Given the description of an element on the screen output the (x, y) to click on. 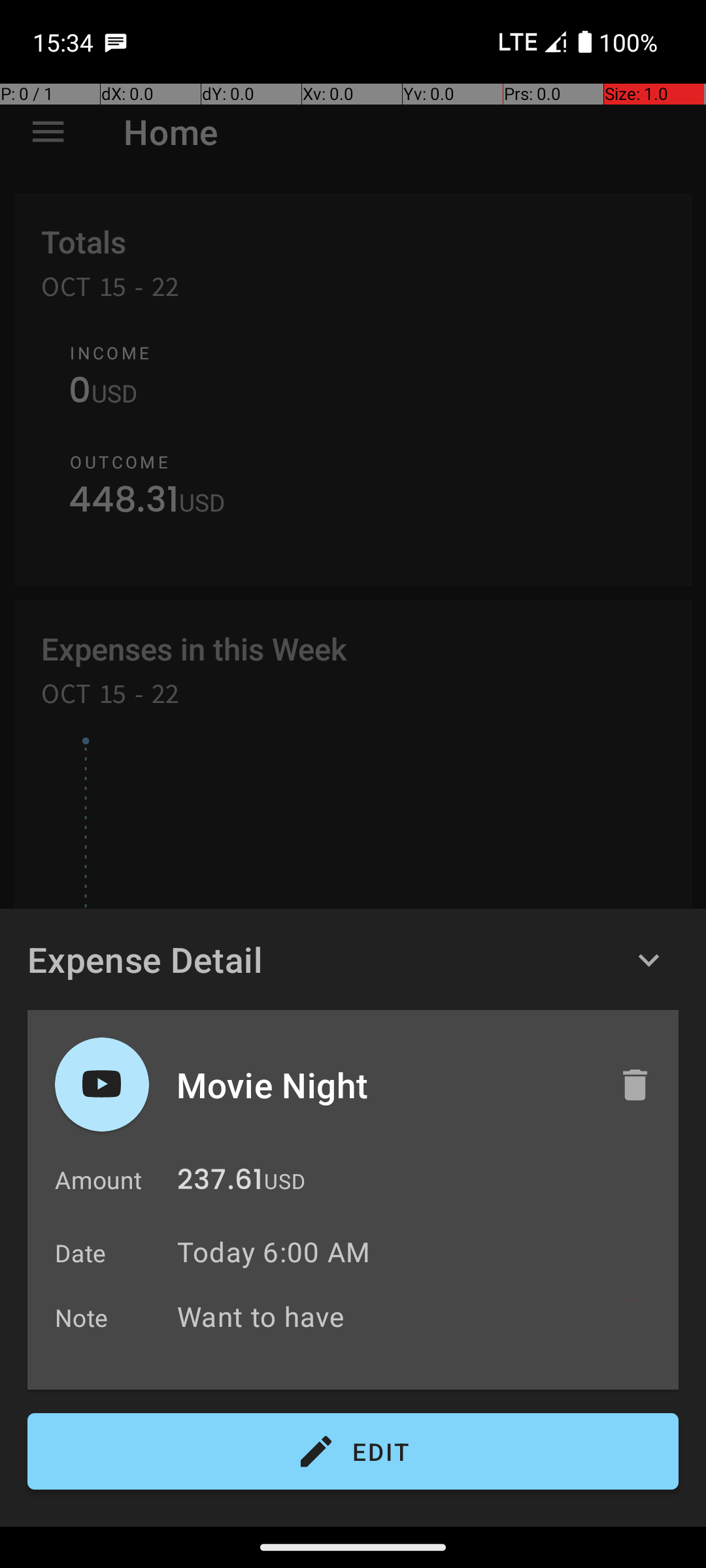
Movie Night Element type: android.widget.TextView (383, 1084)
237.61 Element type: android.widget.TextView (219, 1182)
Today 6:00 AM Element type: android.widget.TextView (273, 1251)
